Given the description of an element on the screen output the (x, y) to click on. 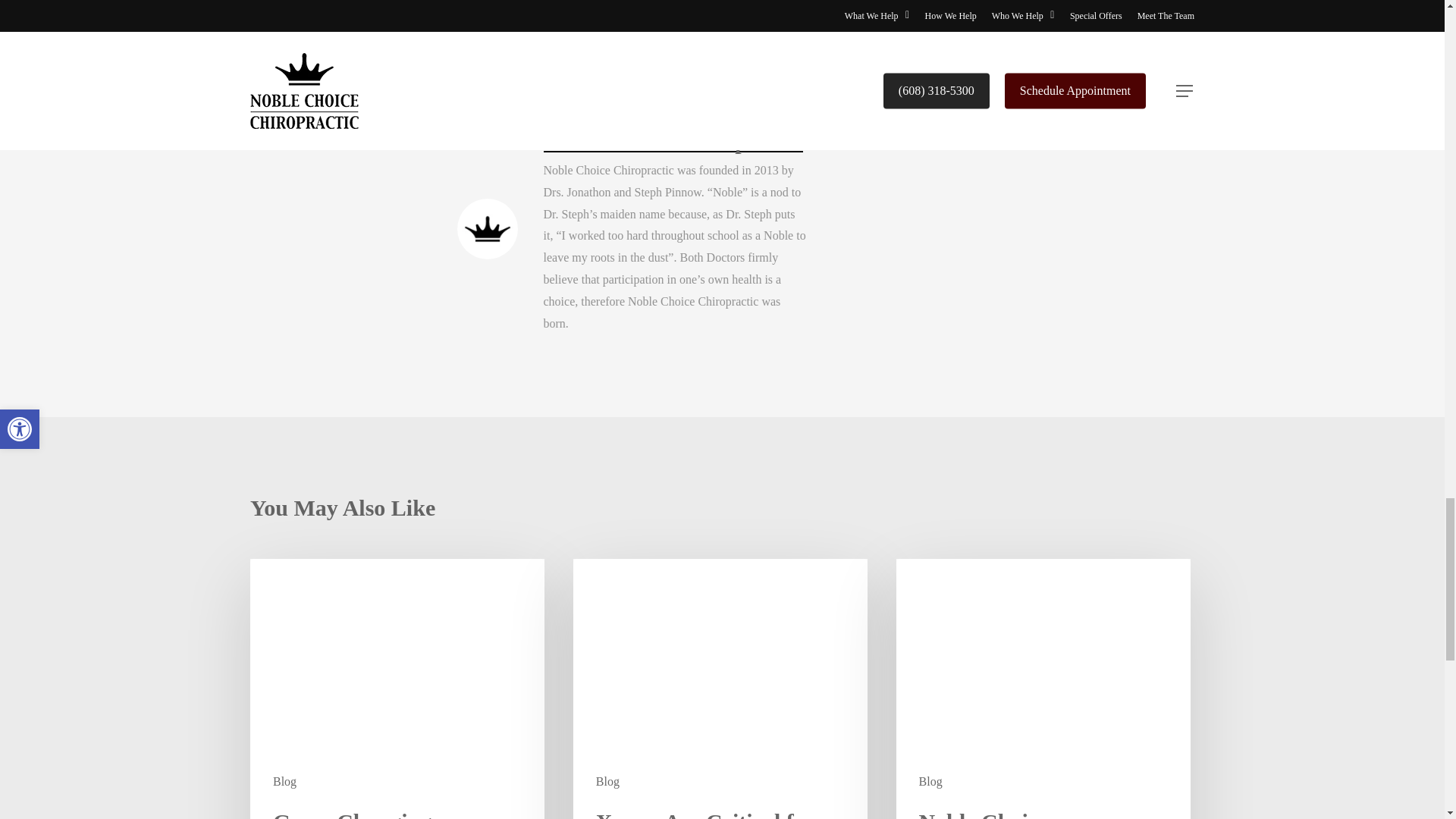
Pin this (776, 28)
Share this (687, 28)
Share this (498, 28)
Tweet this (593, 28)
